Given the description of an element on the screen output the (x, y) to click on. 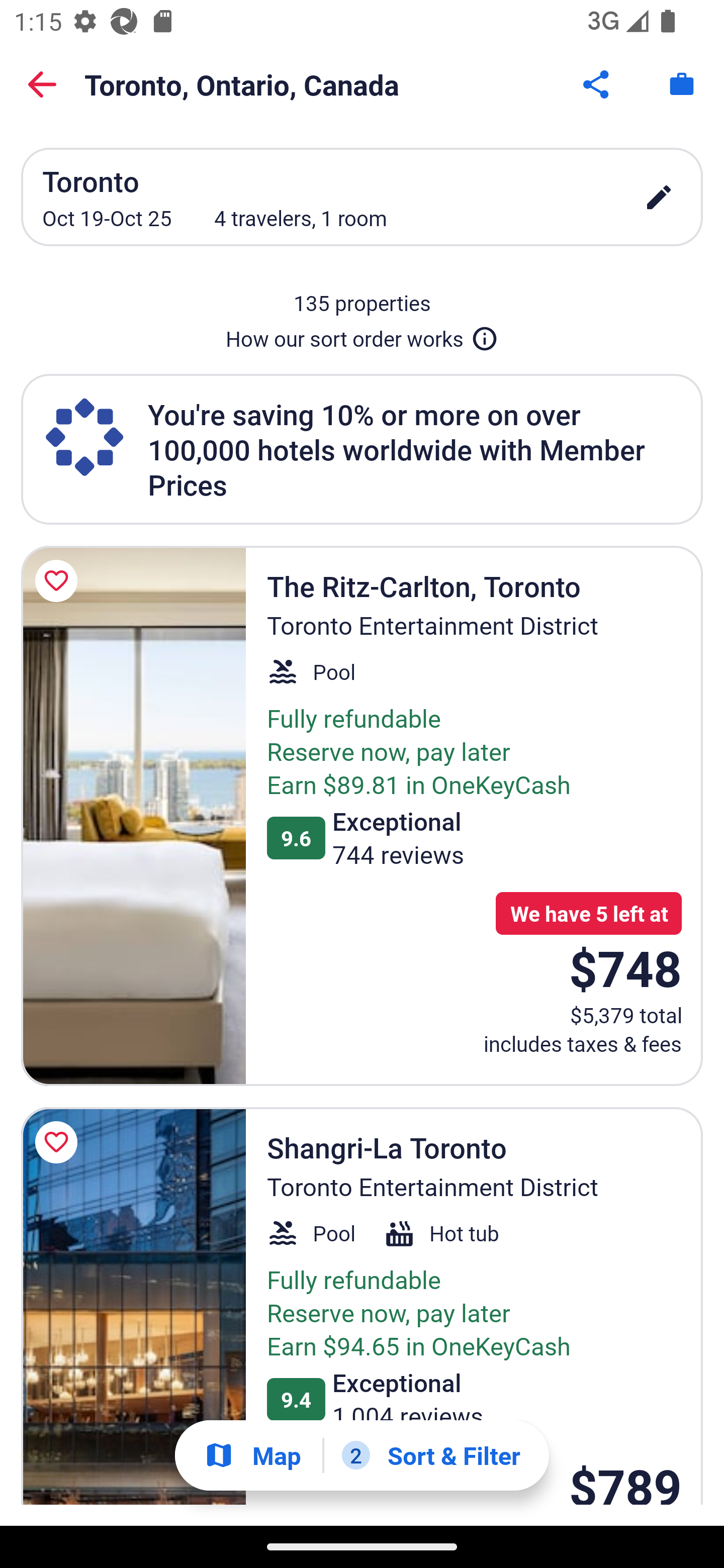
Back (42, 84)
Share Button (597, 84)
Trips. Button (681, 84)
Toronto Oct 19-Oct 25 4 travelers, 1 room edit (361, 196)
How our sort order works (361, 334)
Save The Ritz-Carlton, Toronto to a trip (59, 580)
The Ritz-Carlton, Toronto (133, 815)
Save Shangri-La Toronto to a trip (59, 1141)
Shangri-La Toronto (133, 1306)
2 Sort & Filter 2 Filters applied. Filters Button (430, 1455)
Show map Map Show map Button (252, 1455)
